Given the description of an element on the screen output the (x, y) to click on. 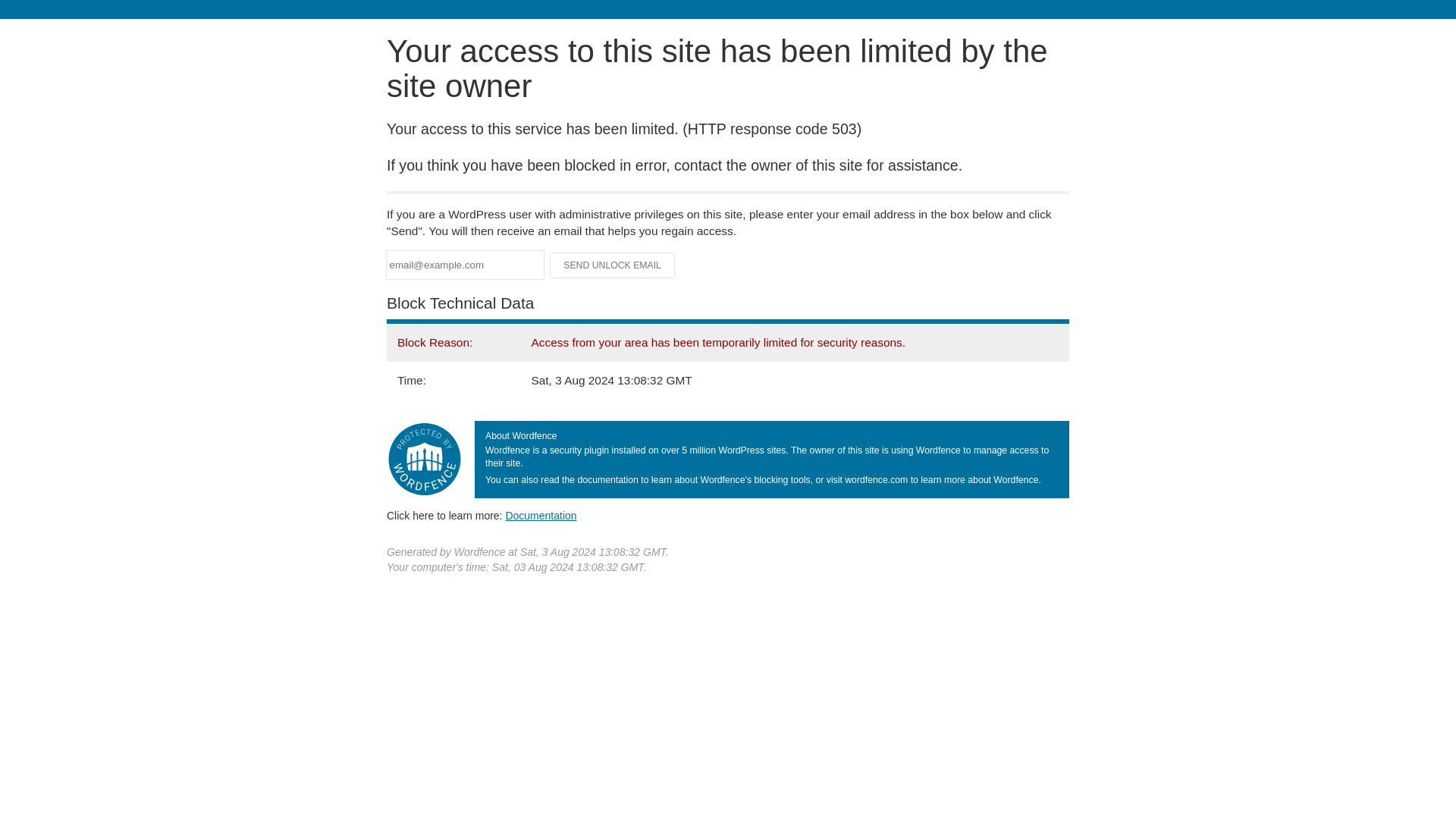
Send Unlock Email (612, 265)
Documentation (540, 515)
Send Unlock Email (612, 265)
